Given the description of an element on the screen output the (x, y) to click on. 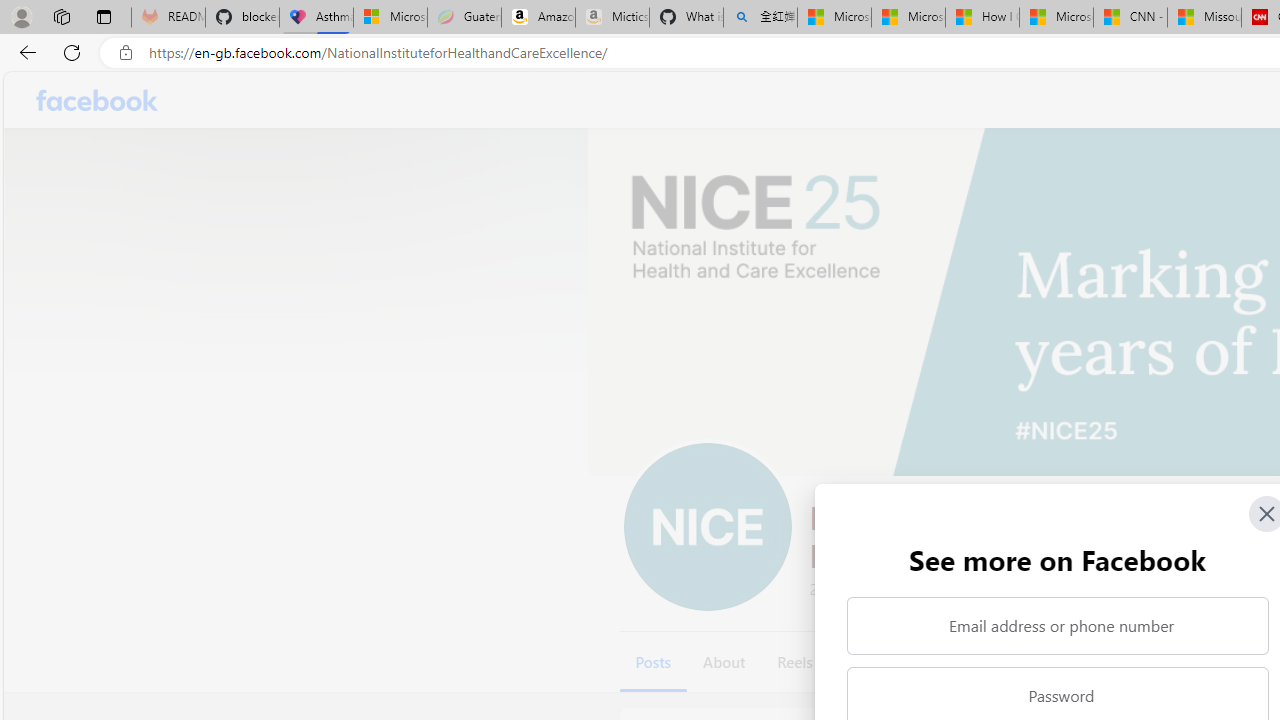
Facebook (97, 99)
Email address or phone number (1057, 625)
